Given the description of an element on the screen output the (x, y) to click on. 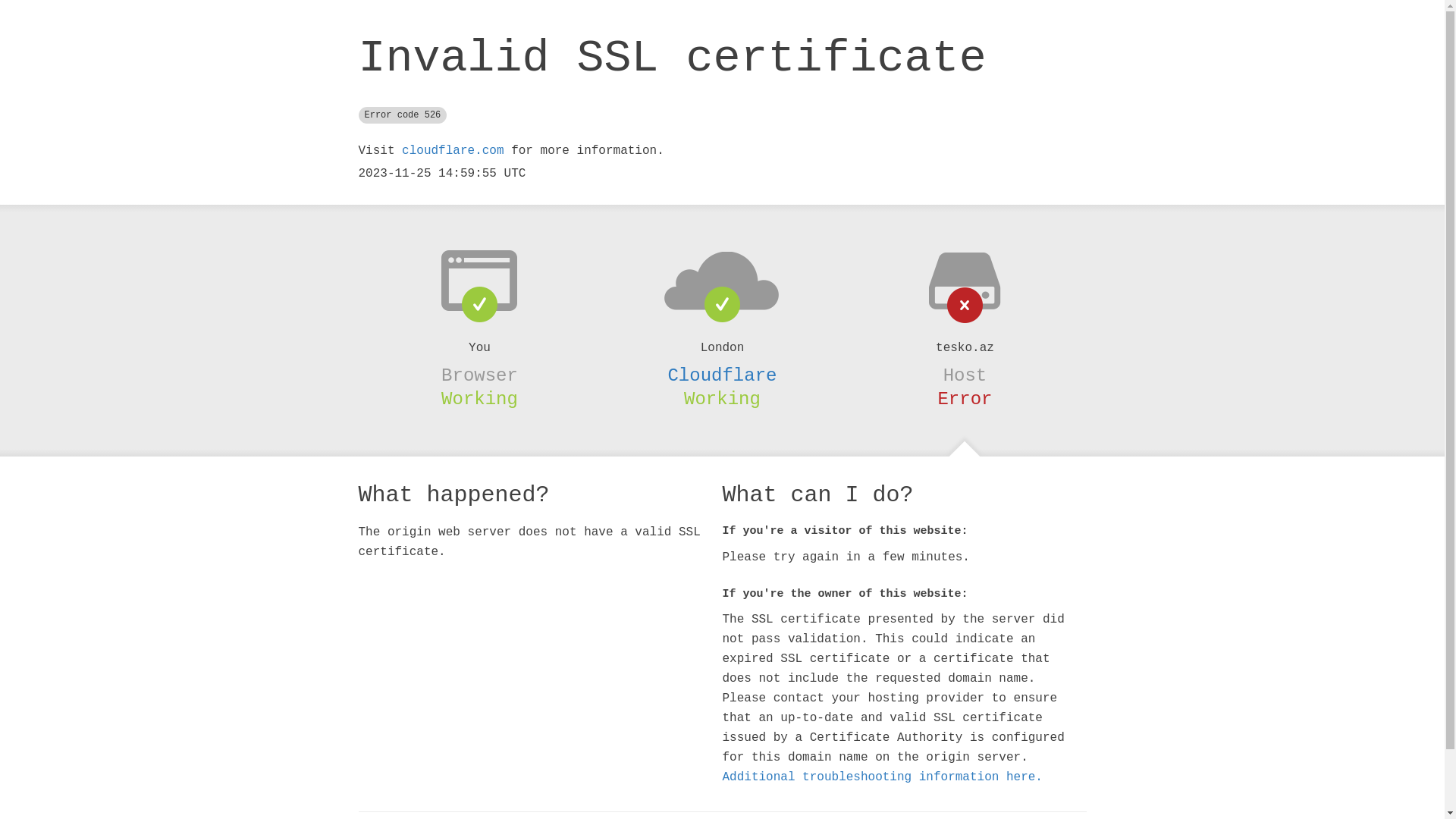
Cloudflare Element type: text (721, 375)
cloudflare.com Element type: text (452, 150)
Additional troubleshooting information here. Element type: text (881, 777)
